Given the description of an element on the screen output the (x, y) to click on. 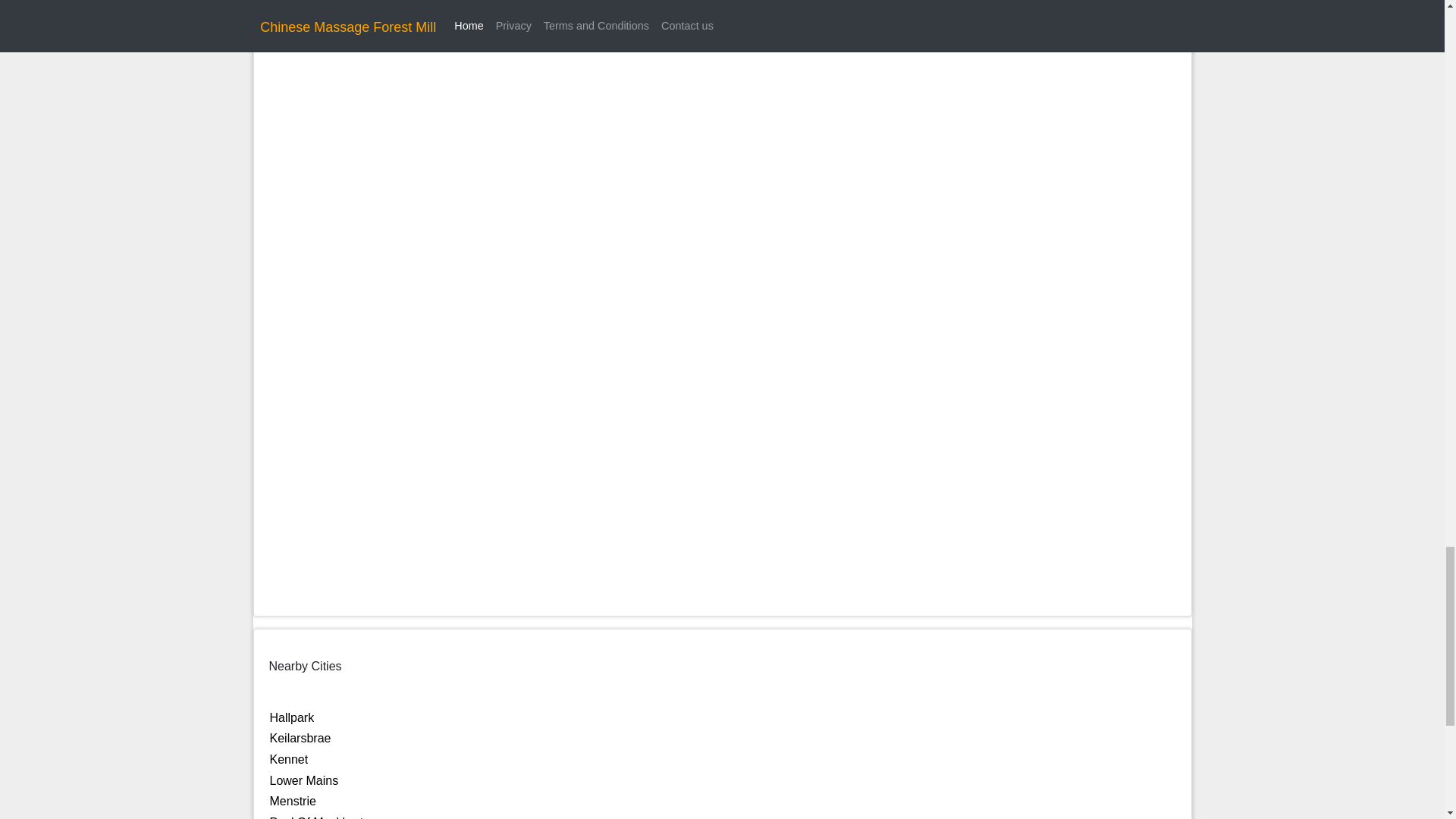
Hallpark (291, 717)
Kennet (288, 758)
Lower Mains (304, 780)
Menstrie (292, 800)
Keilarsbrae (300, 738)
Pool Of Muckhart (316, 817)
